Given the description of an element on the screen output the (x, y) to click on. 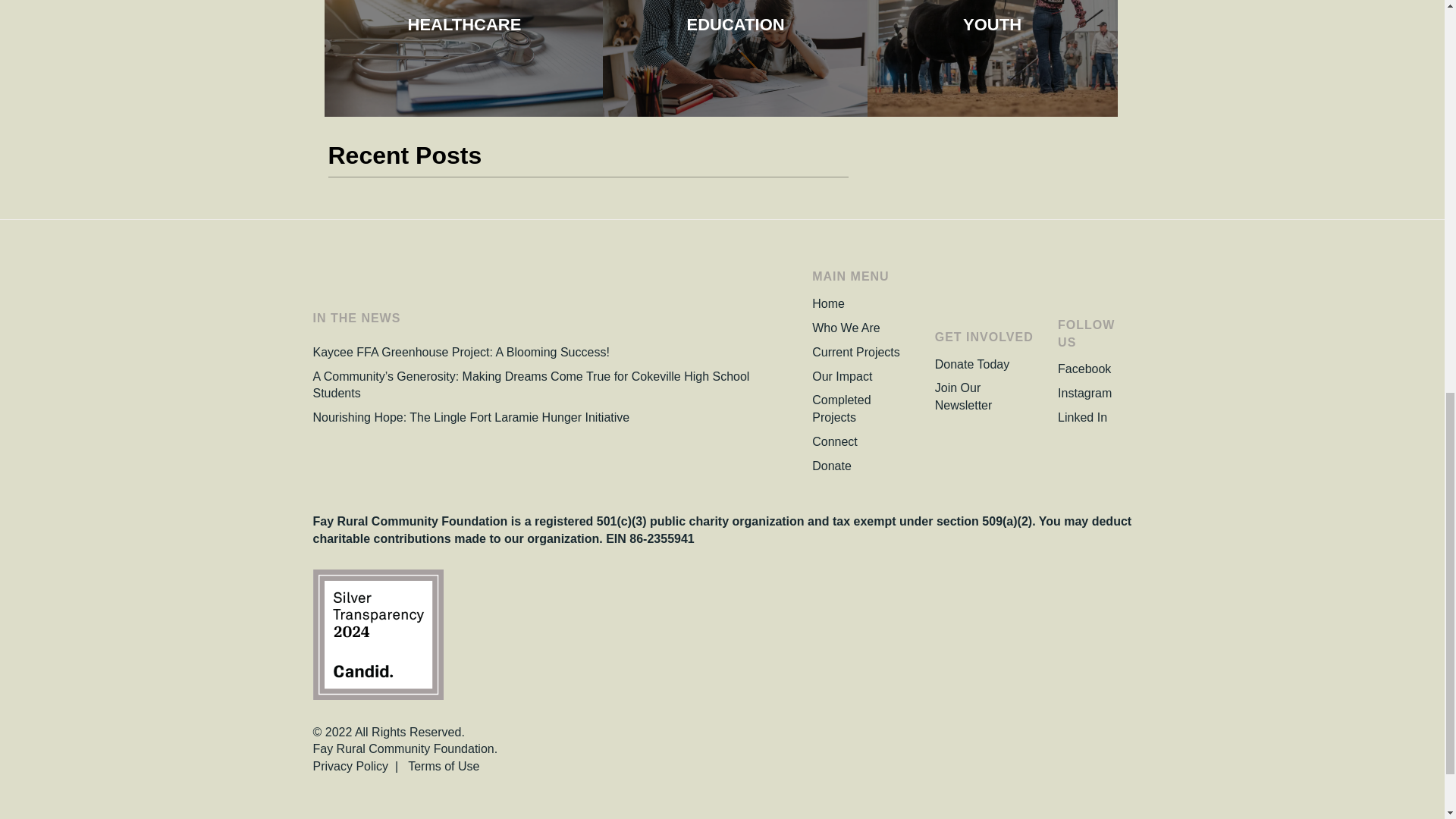
EDUCATION (734, 24)
Completed Projects (841, 408)
Privacy Policy (350, 766)
Nourishing Hope: The Lingle Fort Laramie Hunger Initiative (470, 417)
Who We Are (846, 327)
Donate (831, 465)
Our Impact (842, 376)
Instagram (1085, 392)
Join Our Newsletter (963, 396)
Terms of Use (443, 766)
